Given the description of an element on the screen output the (x, y) to click on. 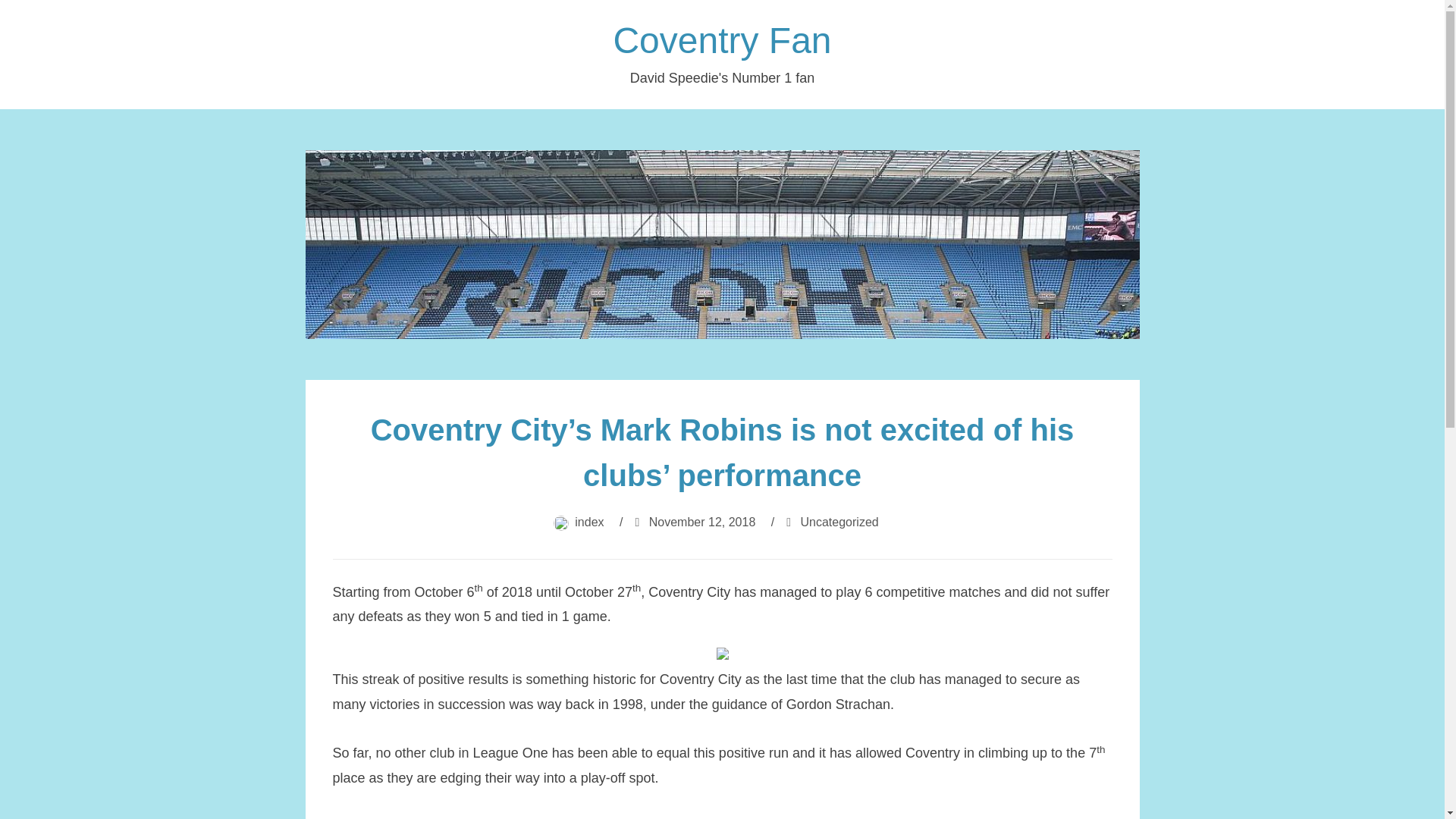
November 12, 2018 (702, 521)
Coventry Fan (721, 40)
Uncategorized (839, 521)
index (589, 521)
